Given the description of an element on the screen output the (x, y) to click on. 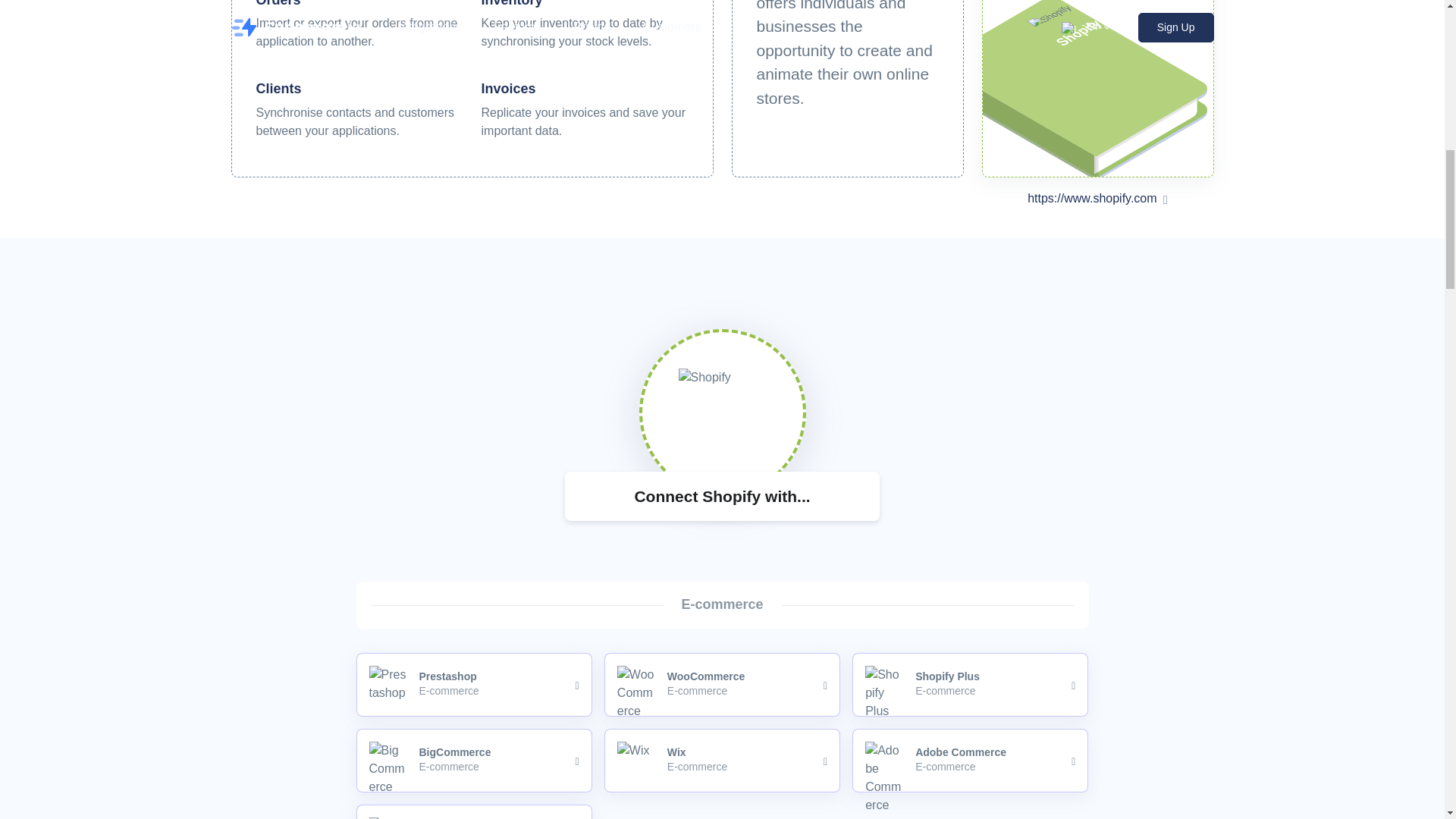
Shopify Plus (969, 684)
Prestashop (722, 684)
Inventory (474, 684)
Invoices (722, 760)
BigCommerce (510, 3)
Adobe Commerce (507, 88)
Shopify Website (474, 760)
Orders (969, 760)
Wix (1091, 197)
Shopware (278, 3)
